Given the description of an element on the screen output the (x, y) to click on. 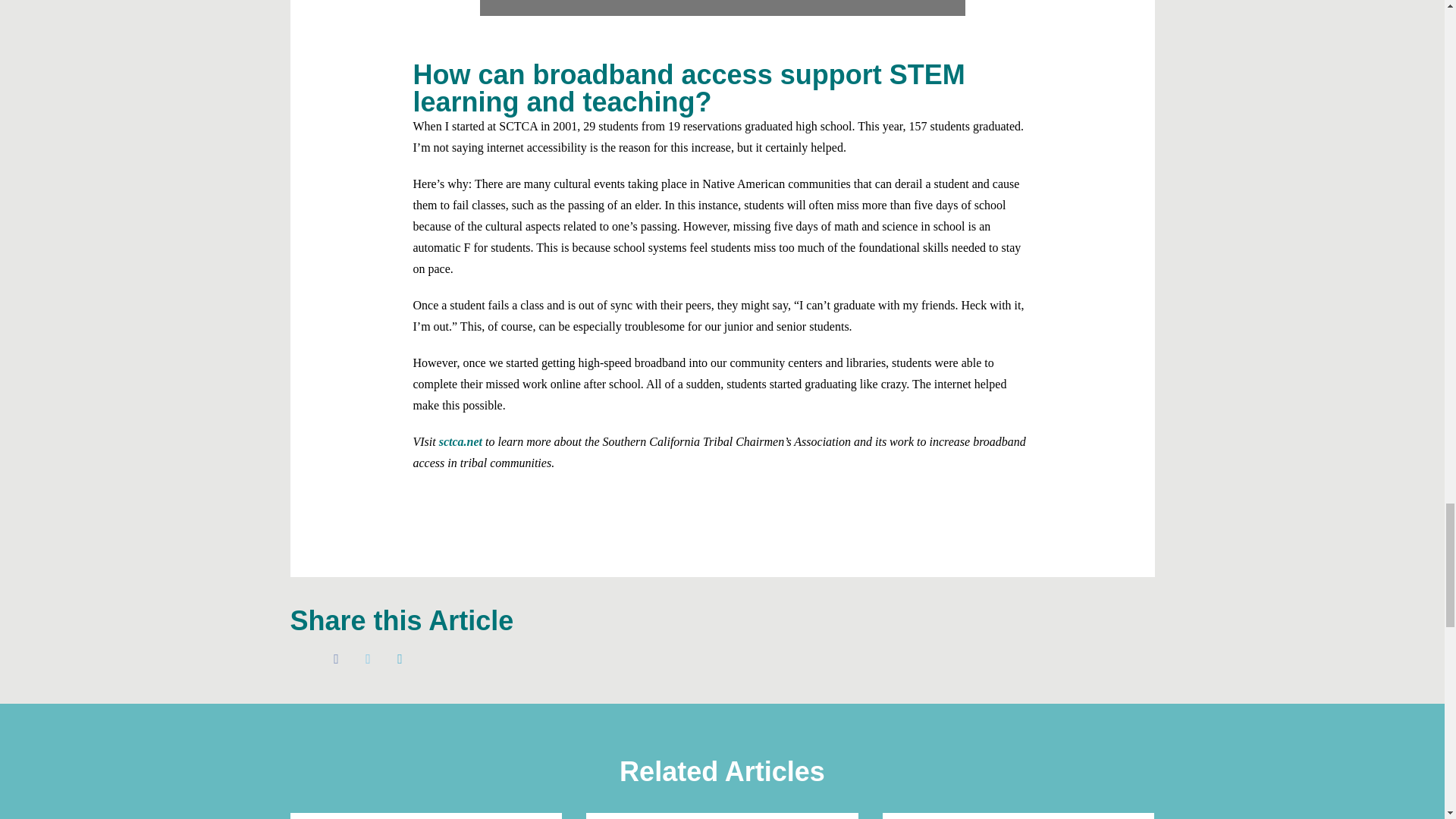
Tribal Wireless Bootcamp Summer 2021 (721, 7)
Share on LinkedIn (400, 658)
Share on Twitter (368, 658)
Share on Facebook (336, 658)
